Given the description of an element on the screen output the (x, y) to click on. 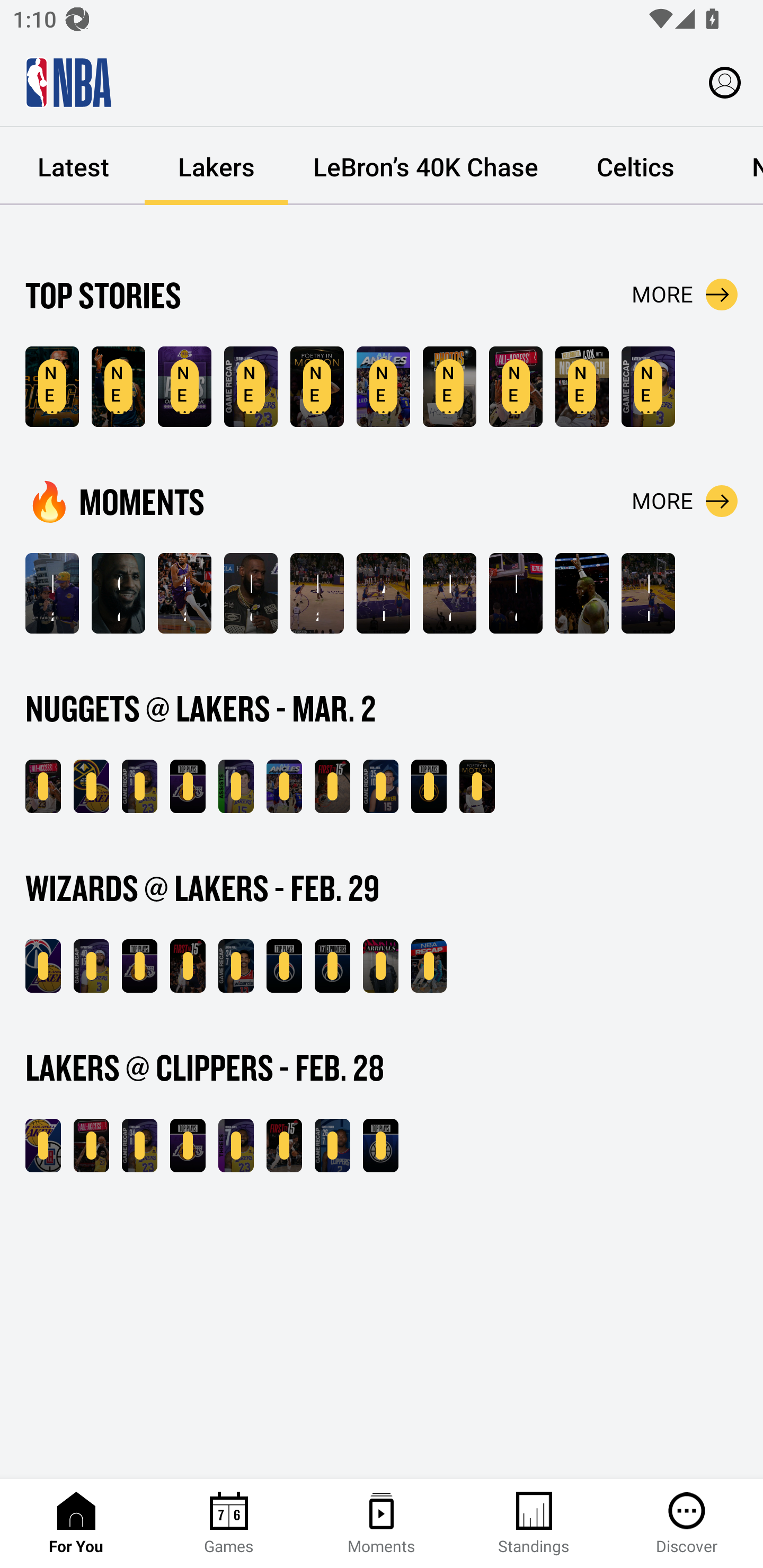
Profile (724, 81)
Latest (72, 166)
LeBron’s 40K Chase (425, 166)
Celtics (634, 166)
MORE (684, 294)
NEW LeBron Tracker: Lakers star reaches 40,000 (51, 386)
NEW Milestone Baskets From LeBron's Career (117, 386)
NEW LAL's Top Plays of Week 19 (184, 386)
NEW Highlights From LeBron James' 26-Point Game (250, 386)
NEW LeBron's Historic Night In Slo-Mo 🎥 (317, 386)
All Angles Of LeBron's Historic Shot 👀 NEW (383, 386)
Scenes From LeBron's 40K Night 📸 NEW (449, 386)
Inside LeBron's 40K Milestone On ABC 🎥 NEW (515, 386)
Shop LeBron Merch Now 👑🛒 NEW (581, 386)
Highlights From Anthony Davis' 40-Point Game NEW (648, 386)
MORE (684, 500)
Saturday's Top Plays In 30 Seconds ⏱ (184, 593)
Radio Call Of The Lebron Bucket For 40K 📻 (317, 593)
Austin Reaves with the assist (383, 593)
LeBron James hits from way downtown (449, 593)
LeBron James with the hoop & harm (515, 593)
👏👑🙌 (581, 593)
Dunk by Jaxson Hayes (648, 593)
NEW Inside LeBron's 40K Milestone On ABC 🎥 (43, 785)
NEW DEN 124, LAL 114 - Mar 2 (91, 785)
NEW Highlights From LeBron James' 26-Point Game (139, 785)
NEW LAL's Top Plays from DEN vs. LAL (187, 785)
NEW Highlights From Austin Reaves' 14-Assist Game (236, 785)
All Angles Of LeBron's Historic Shot 👀 NEW (284, 785)
First To 15 Mar. 2nd NEW (332, 785)
Highlights From Nikola Jokic's 35-Point Game NEW (380, 785)
DEN's Top Plays from DEN vs. LAL NEW (428, 785)
LeBron's Historic Night In Slo-Mo 🎥 NEW (477, 785)
NEW LAL 134, WAS 131 - Feb 29 (43, 965)
NEW Highlights From Anthony Davis' 40-Point Game (91, 965)
NEW LAL's Top Plays from WAS vs. LAL (139, 965)
NEW First To 15: Feb. 29th (187, 965)
NEW Highlights From Jordan Poole's 34-Point Game (236, 965)
WAS' Top Plays from WAS vs. LAL NEW (284, 965)
All 3's from WAS' 17 3-Pointer Night NEW (332, 965)
Thursday Night's Arrivals 🔥 NEW (380, 965)
Thursday's Recap NEW (428, 965)
NEW LAL 116, LAC 112 - Feb 28 (43, 1145)
NEW LeBron Takes Over In The Battle Of LA (91, 1145)
NEW Highlights From LeBron James's 34-Point Game (139, 1145)
NEW LAL's Top Plays from LAL vs. LAC (187, 1145)
First To 15: Feb. 28th NEW (284, 1145)
Highlights From Kawhi Leonard's 26-Point Game NEW (332, 1145)
LAC's Top Plays from LAL vs. LAC NEW (380, 1145)
Games (228, 1523)
Moments (381, 1523)
Standings (533, 1523)
Discover (686, 1523)
